Given the description of an element on the screen output the (x, y) to click on. 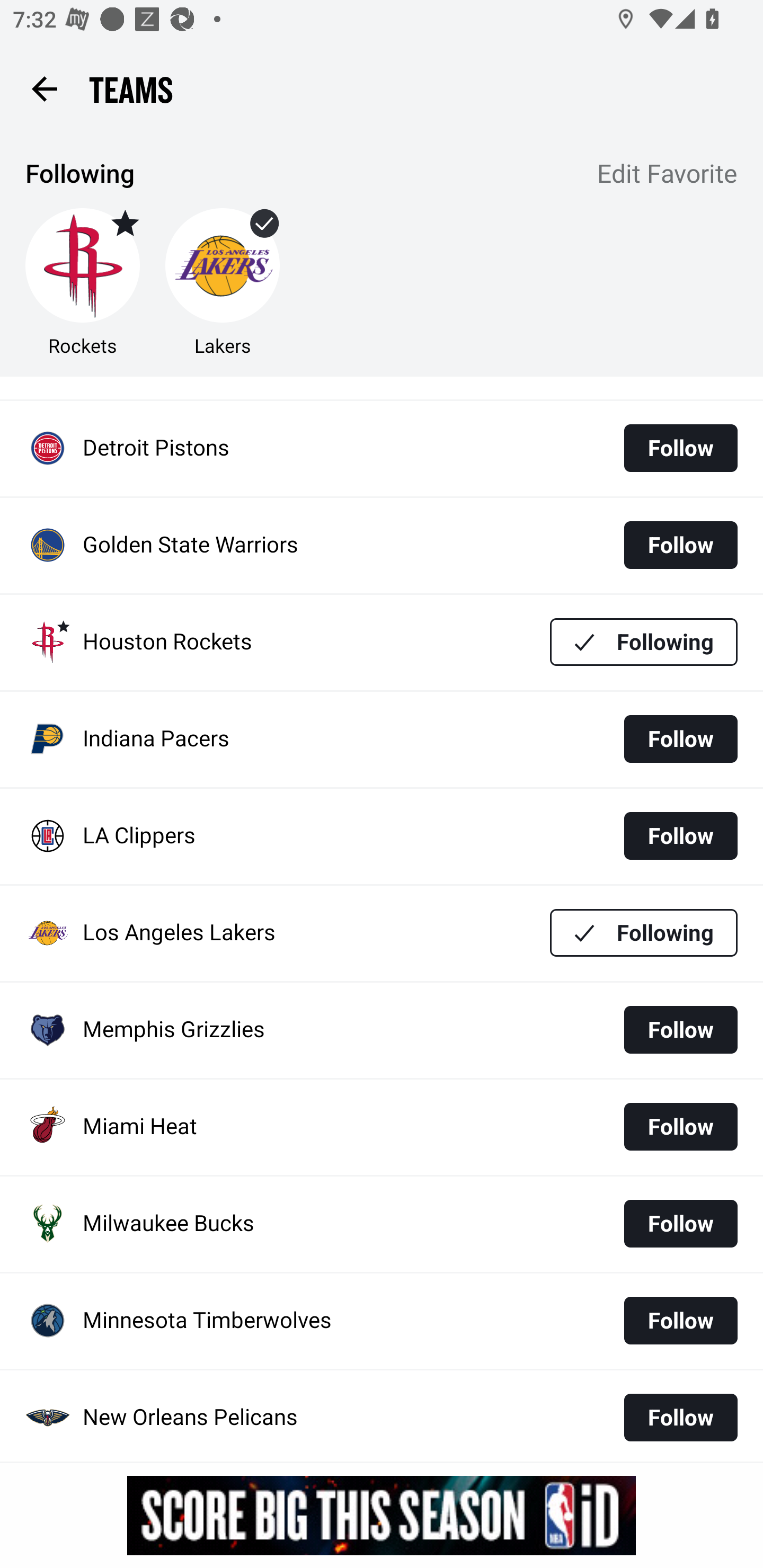
Back button (44, 88)
Edit Favorite (667, 175)
Detroit Pistons Follow (381, 449)
Follow (680, 447)
Golden State Warriors Follow (381, 545)
Follow (680, 544)
Houston Rockets Following (381, 641)
Following (643, 641)
Indiana Pacers Follow (381, 739)
Follow (680, 738)
LA Clippers Follow (381, 836)
Follow (680, 835)
Los Angeles Lakers Following (381, 933)
Following (643, 932)
Memphis Grizzlies Follow (381, 1030)
Follow (680, 1028)
Miami Heat Follow (381, 1127)
Follow (680, 1126)
Milwaukee Bucks Follow (381, 1223)
Follow (680, 1223)
Minnesota Timberwolves Follow (381, 1320)
Follow (680, 1320)
New Orleans Pelicans Follow (381, 1415)
Follow (680, 1417)
g5nqqygr7owph (381, 1515)
